Given the description of an element on the screen output the (x, y) to click on. 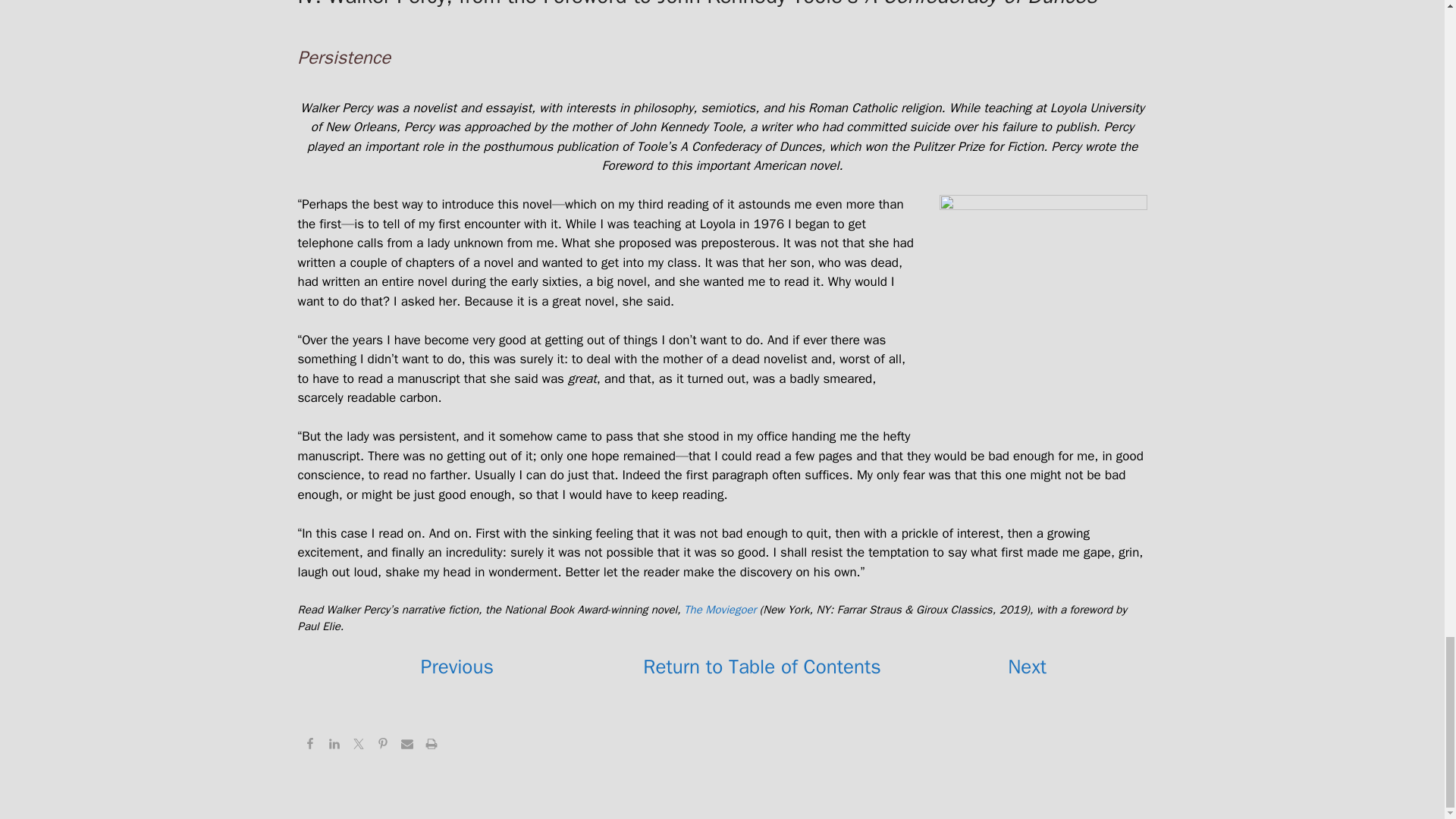
Share on Facebook (309, 745)
Share on LinkedIn (333, 745)
Share on Twitter (357, 745)
The Moviegoer (719, 609)
Previous (456, 666)
Print this Page (430, 745)
Share on Pinterest (381, 745)
Return to Table of Contents (761, 666)
Next (1026, 666)
Share via Email (406, 745)
